Given the description of an element on the screen output the (x, y) to click on. 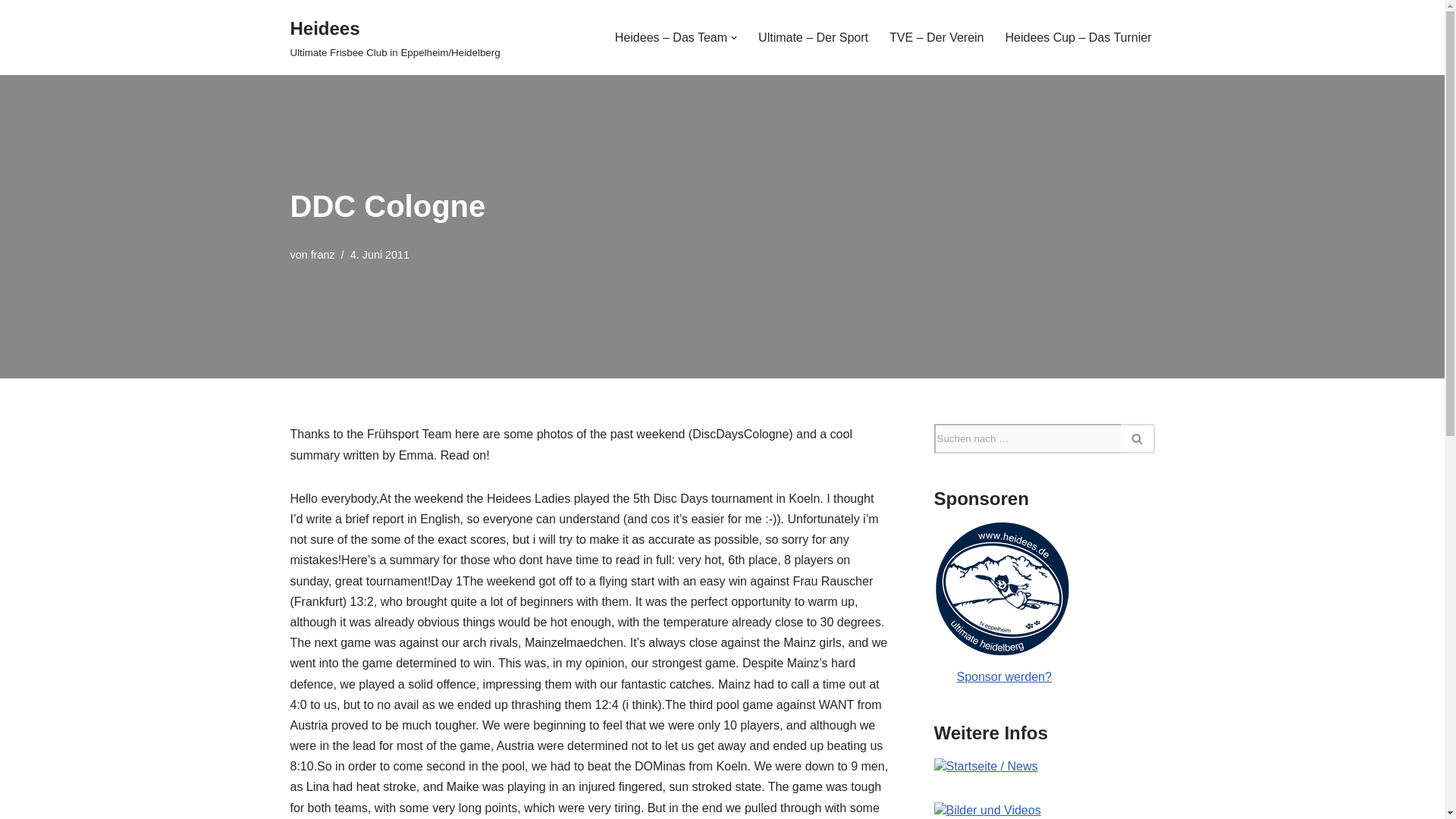
franz (322, 254)
Bilder und Videos (987, 809)
Sponsor werden? (1044, 666)
Zum Inhalt springen (11, 31)
